Given the description of an element on the screen output the (x, y) to click on. 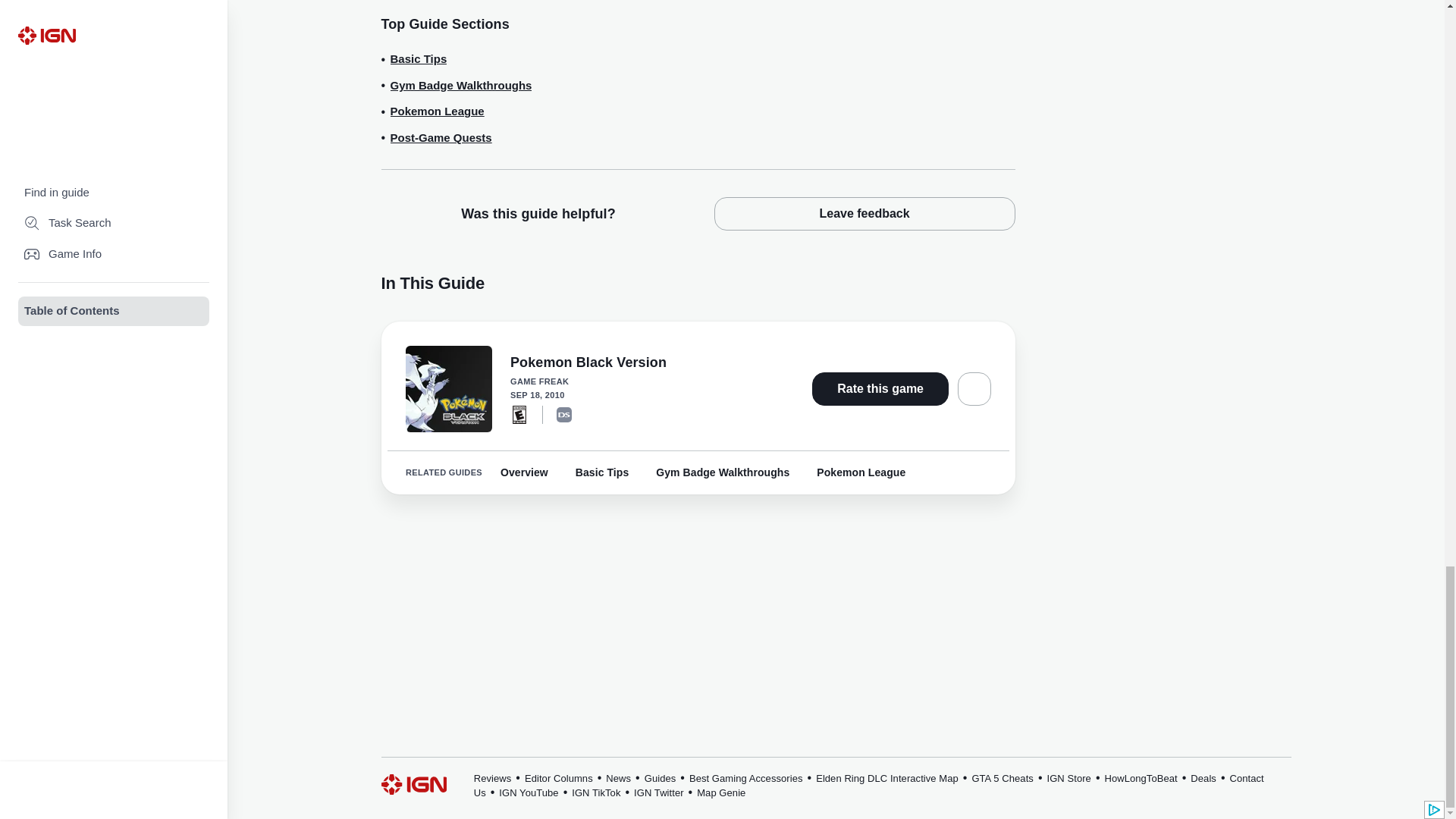
Nintendo DS (564, 413)
ESRB: Everyone (518, 413)
